Given the description of an element on the screen output the (x, y) to click on. 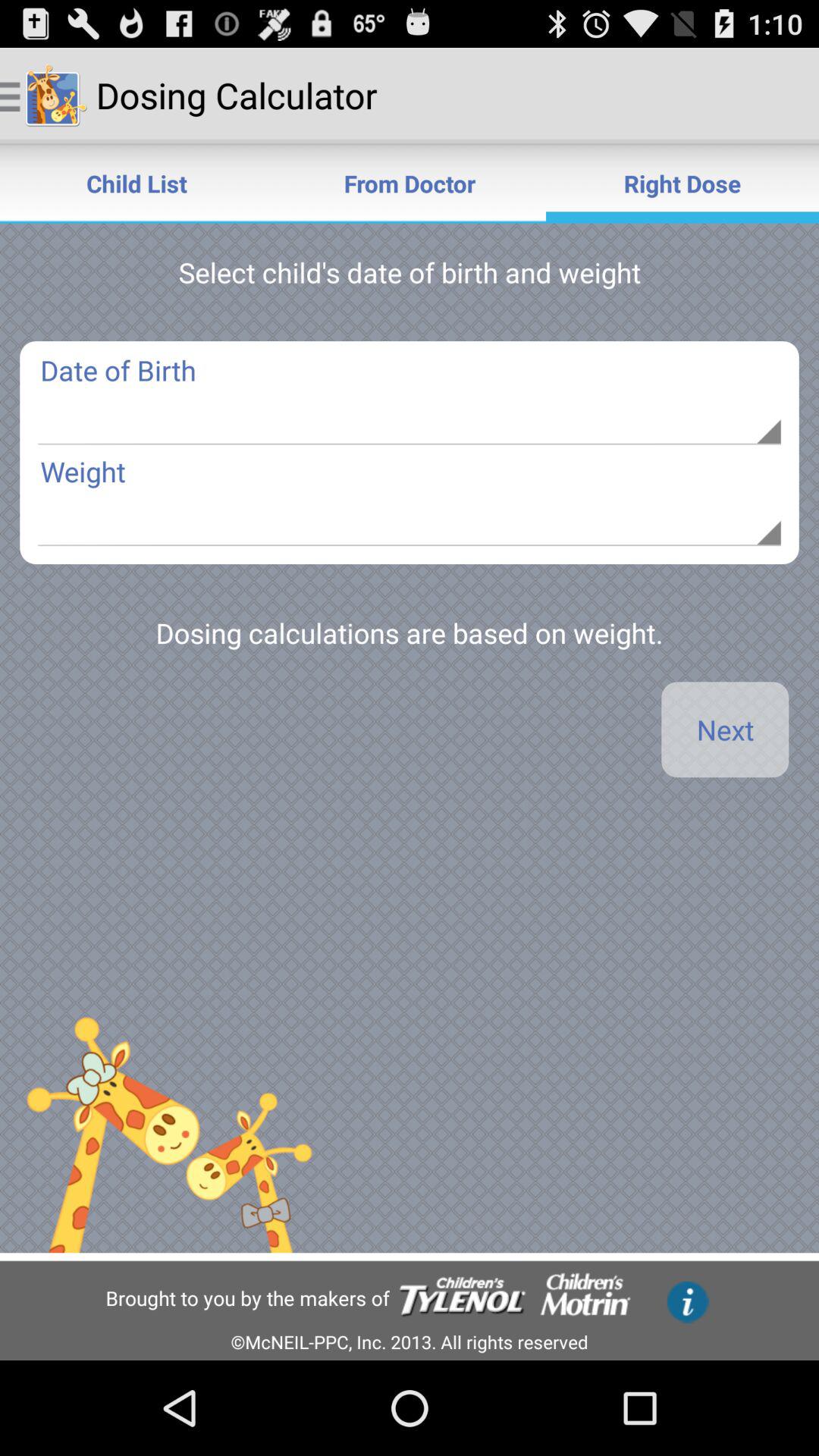
open icon next to the right dose icon (409, 183)
